Given the description of an element on the screen output the (x, y) to click on. 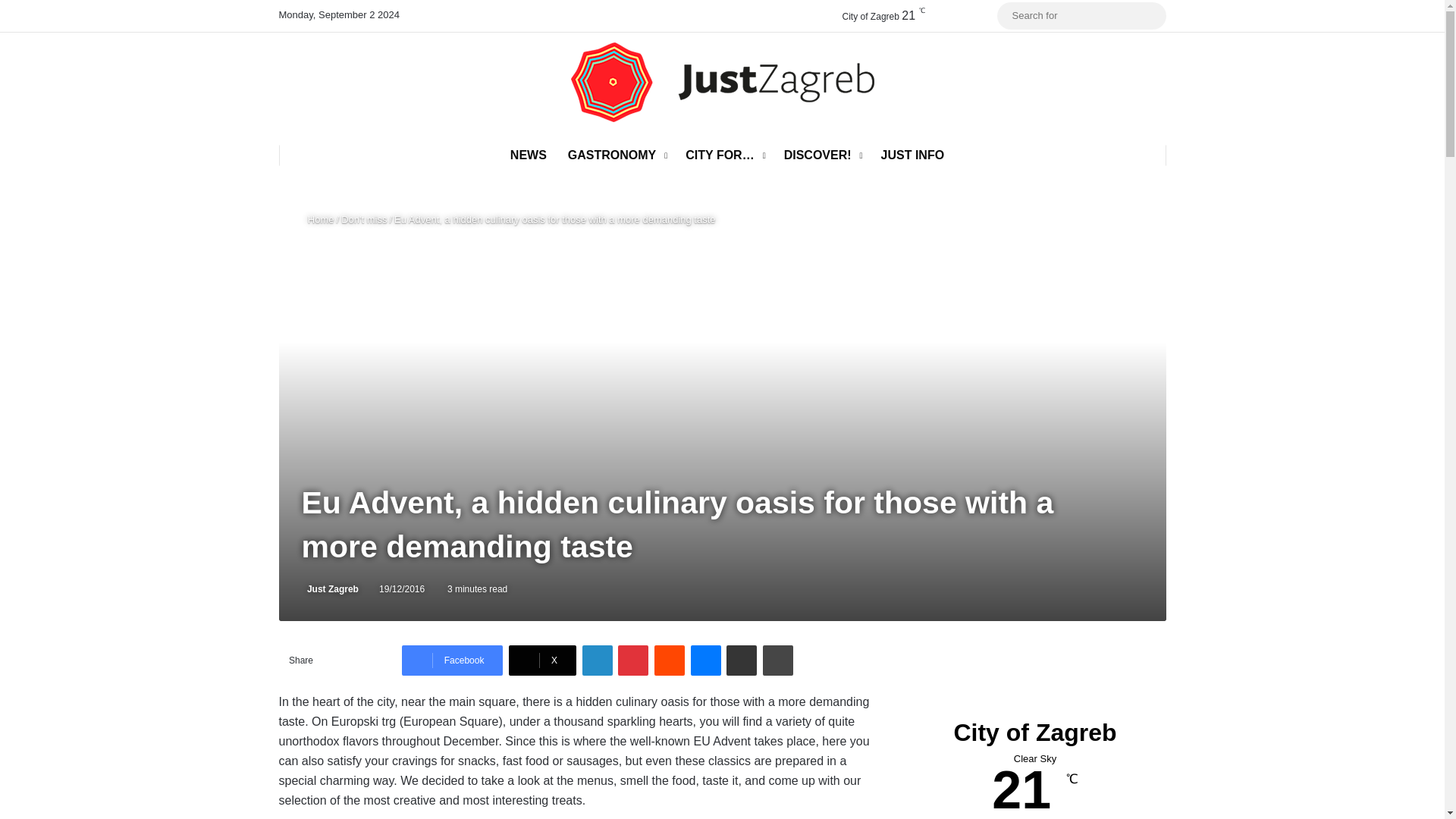
Reddit (668, 660)
Search for (1150, 15)
Search for (1080, 15)
Share via Email (741, 660)
DISCOVER! (821, 155)
Facebook (452, 660)
Pinterest (632, 660)
LinkedIn (597, 660)
Clear Sky (869, 15)
Just Zagreb (329, 588)
